Given the description of an element on the screen output the (x, y) to click on. 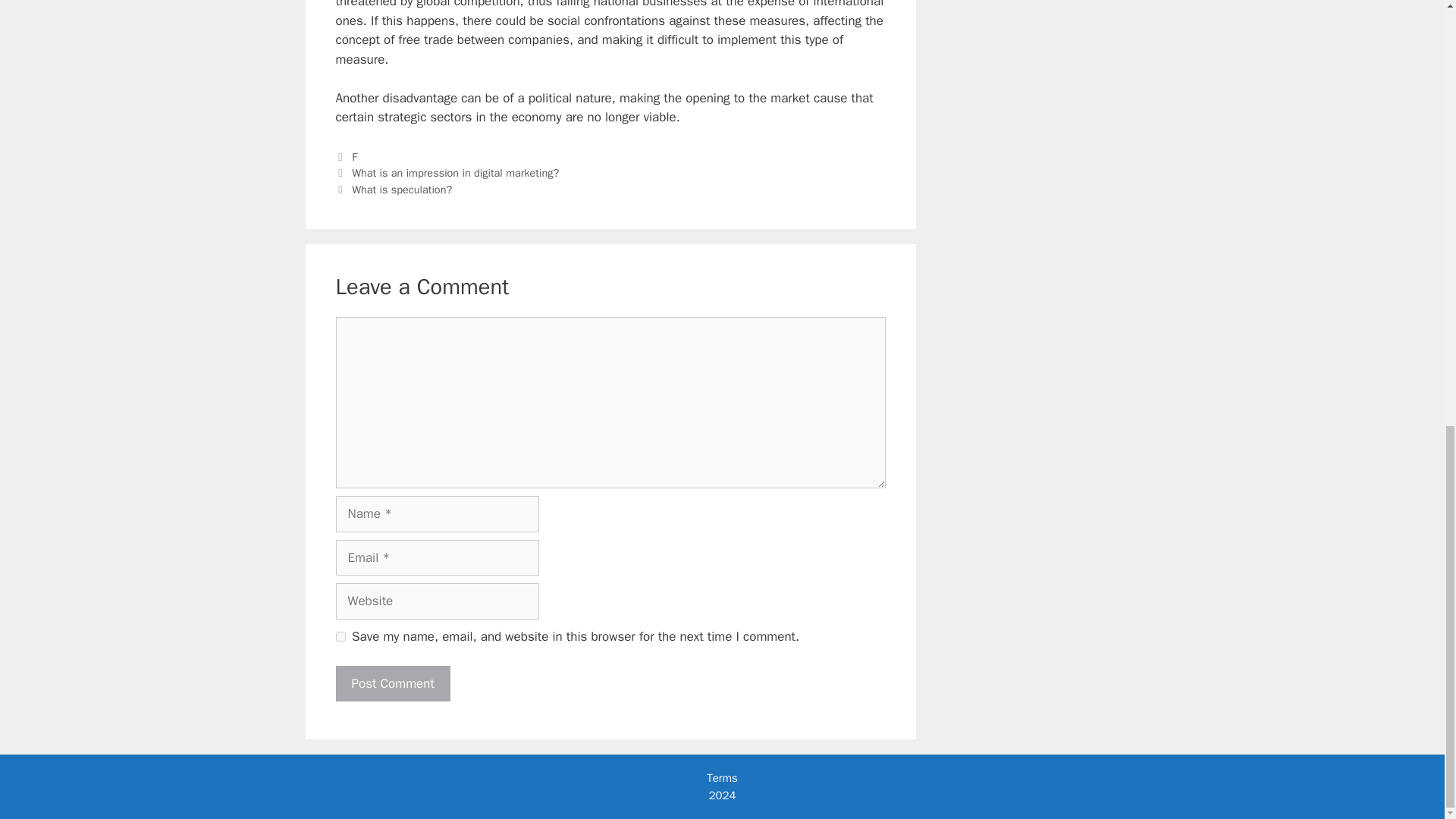
What is speculation? (401, 189)
What is an impression in digital marketing? (455, 172)
Post Comment (391, 683)
Terms (721, 777)
yes (339, 636)
Post Comment (391, 683)
